Given the description of an element on the screen output the (x, y) to click on. 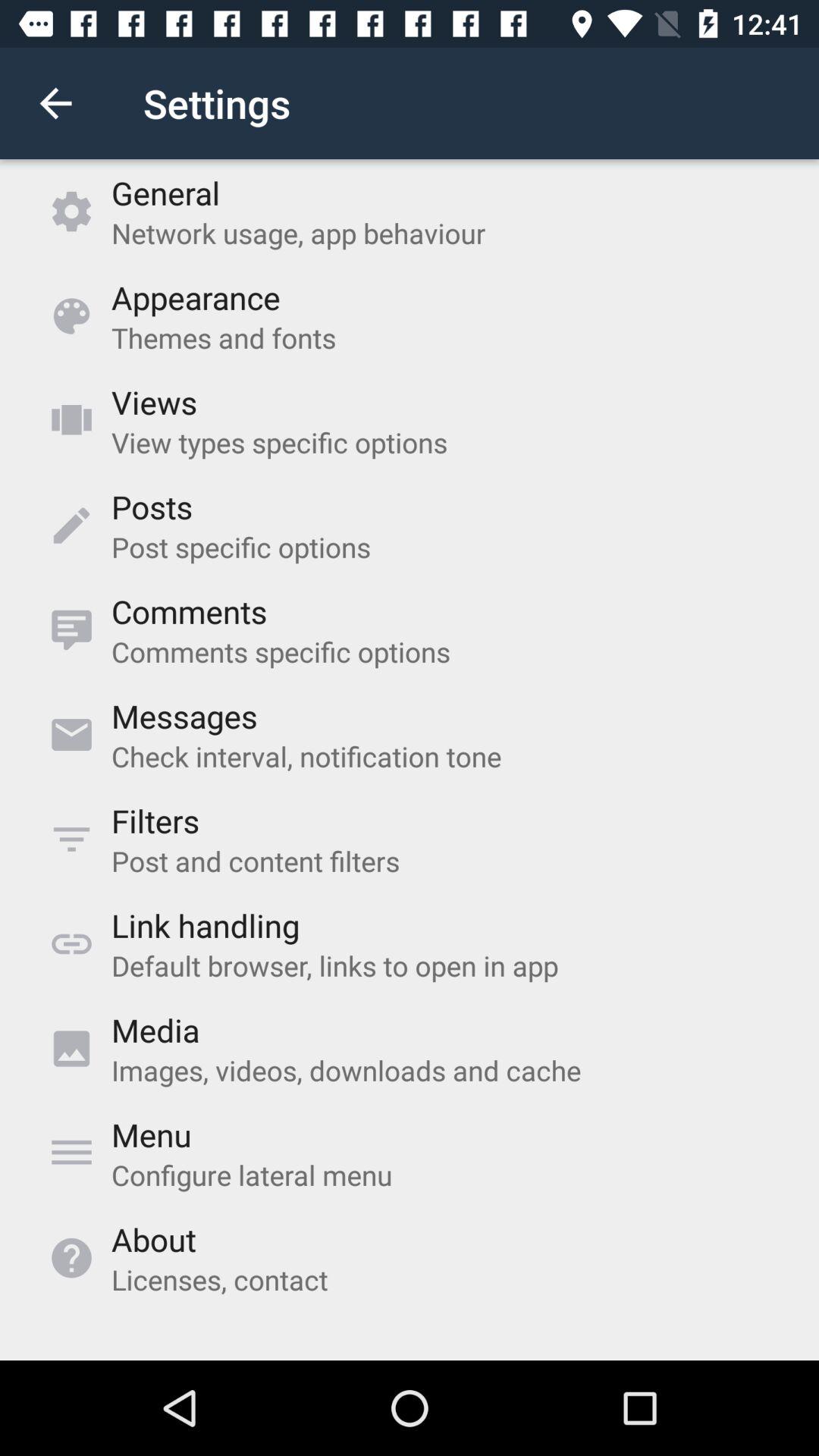
swipe to the media (155, 1029)
